Given the description of an element on the screen output the (x, y) to click on. 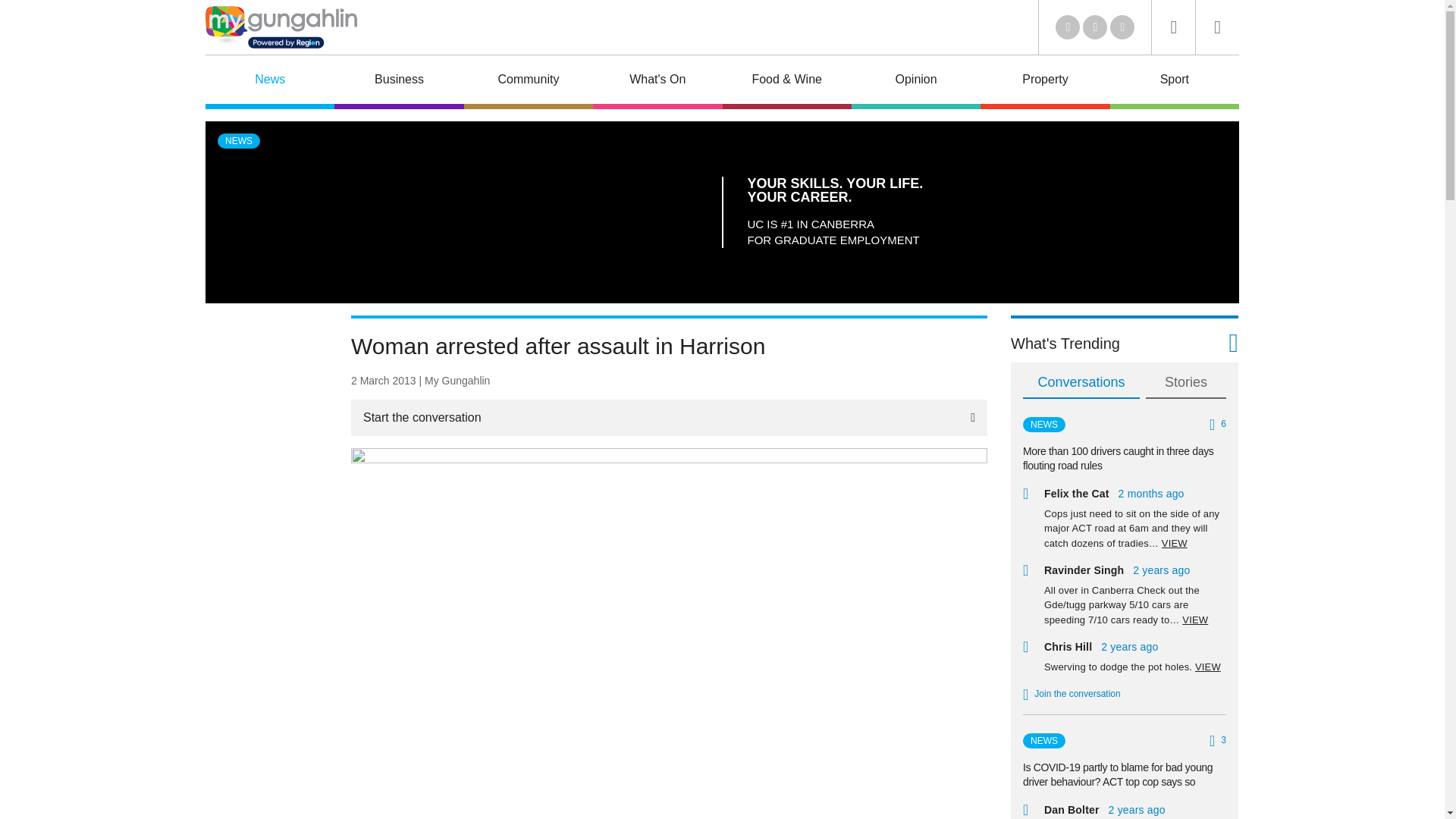
Twitter (1067, 27)
My Gungahlin Home (280, 26)
News (269, 81)
Instagram (1121, 27)
Community (528, 81)
Business (398, 81)
Facebook (1094, 27)
